Given the description of an element on the screen output the (x, y) to click on. 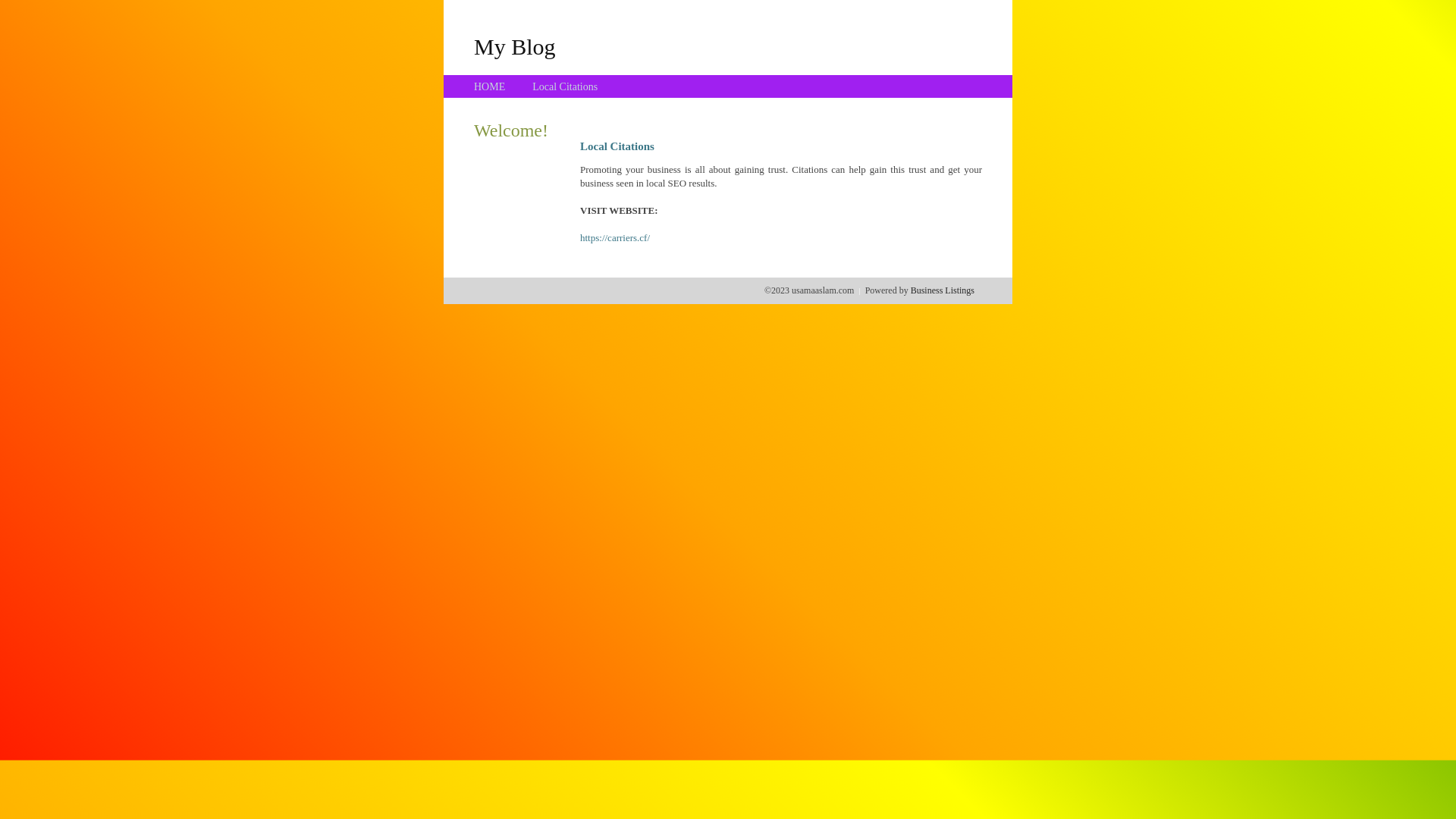
HOME Element type: text (489, 86)
My Blog Element type: text (514, 46)
https://carriers.cf/ Element type: text (614, 237)
Business Listings Element type: text (942, 290)
Local Citations Element type: text (564, 86)
